Given the description of an element on the screen output the (x, y) to click on. 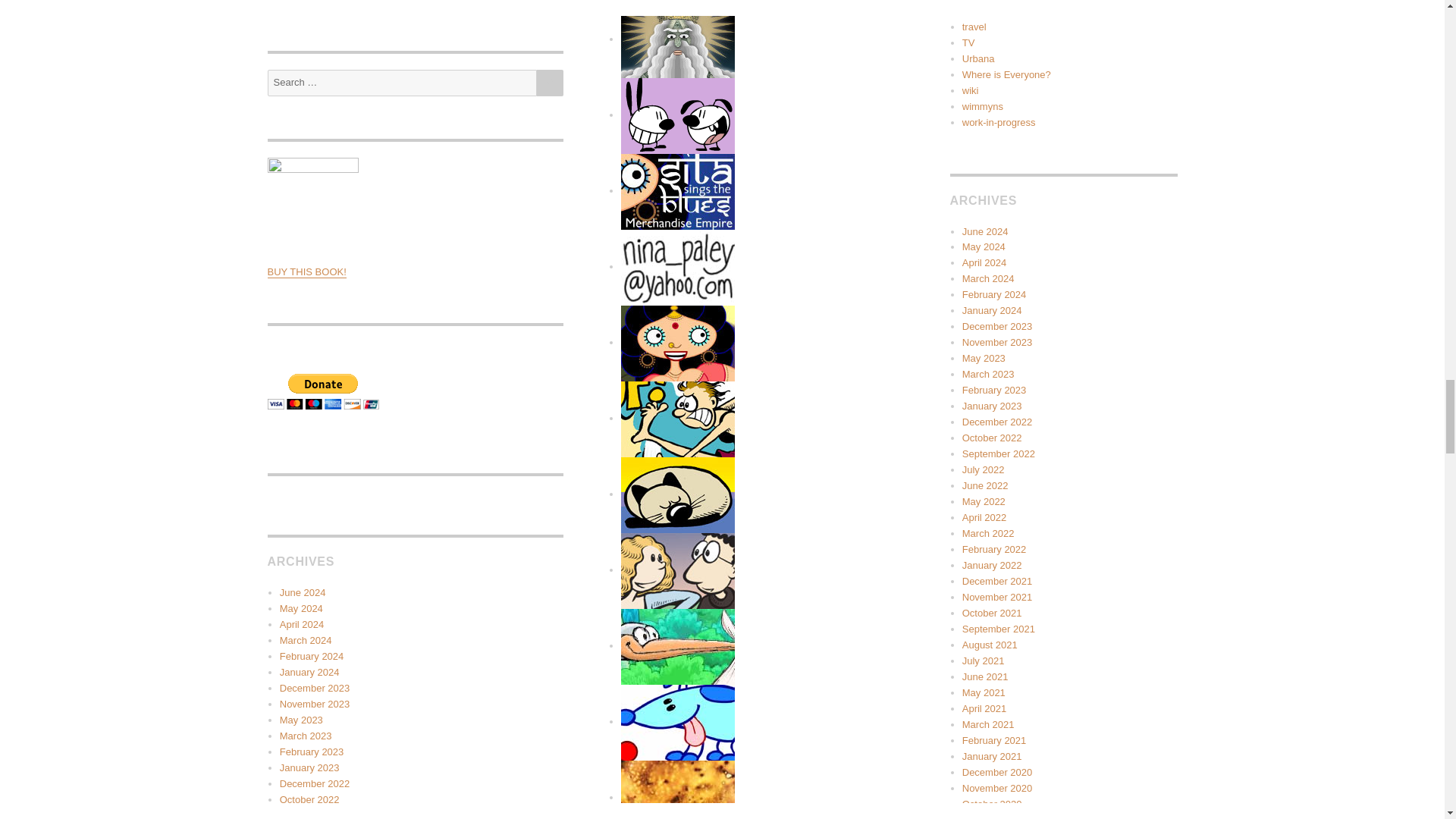
SEARCH (550, 82)
February 2024 (311, 655)
BUY THIS BOOK! (306, 271)
April 2024 (301, 624)
May 2023 (301, 719)
February 2023 (311, 751)
March 2024 (305, 640)
November 2023 (314, 704)
December 2023 (314, 687)
March 2023 (305, 736)
May 2024 (301, 608)
January 2024 (309, 672)
June 2024 (302, 592)
